Given the description of an element on the screen output the (x, y) to click on. 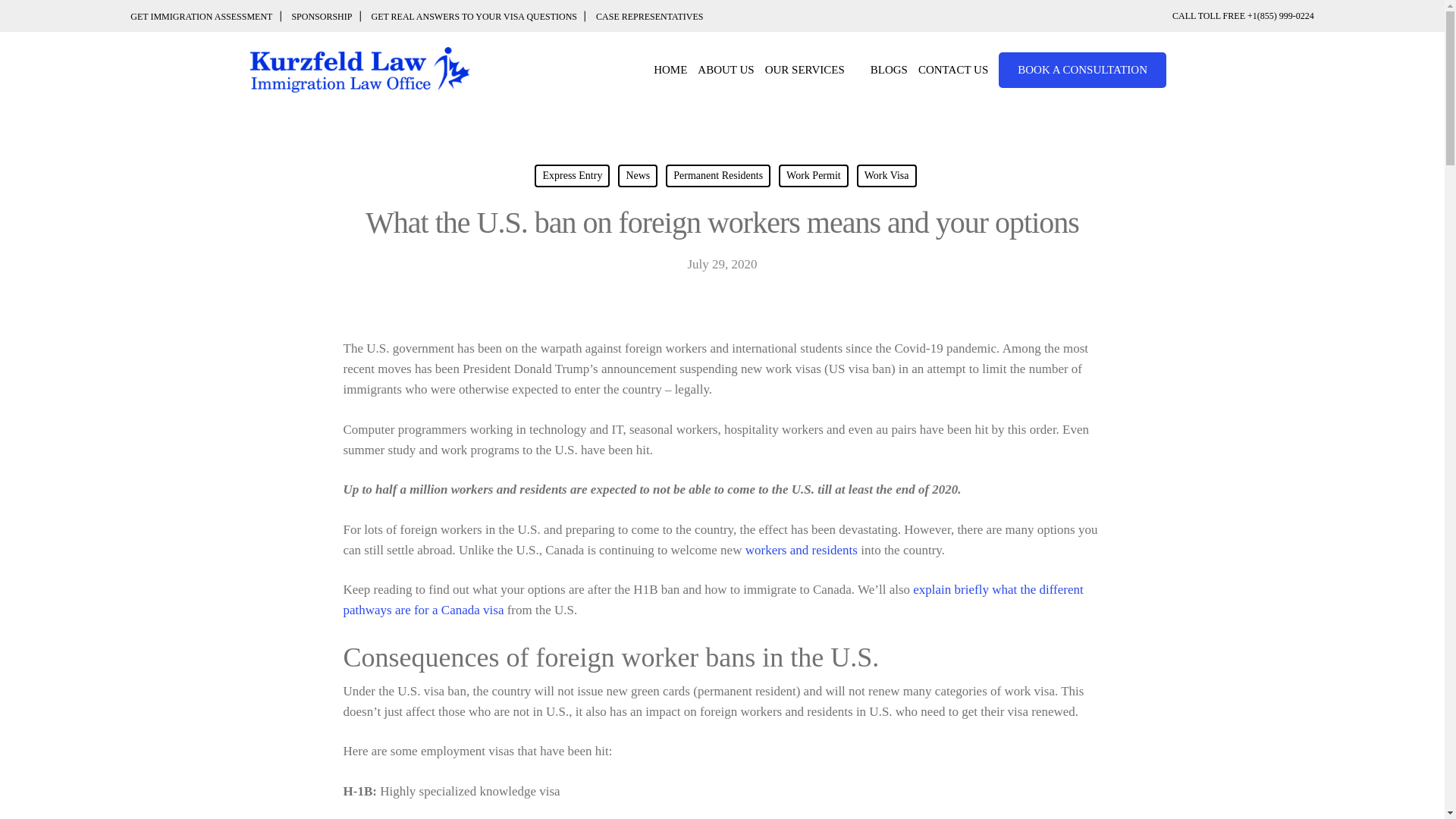
GET IMMIGRATION ASSESSMENT (206, 15)
HOME (670, 69)
SPONSORSHIP (321, 15)
OUR SERVICES (812, 69)
GET REAL ANSWERS TO YOUR VISA QUESTIONS (473, 15)
ABOUT US (725, 69)
BLOGS (888, 69)
CASE REPRESENTATIVES (649, 15)
